Given the description of an element on the screen output the (x, y) to click on. 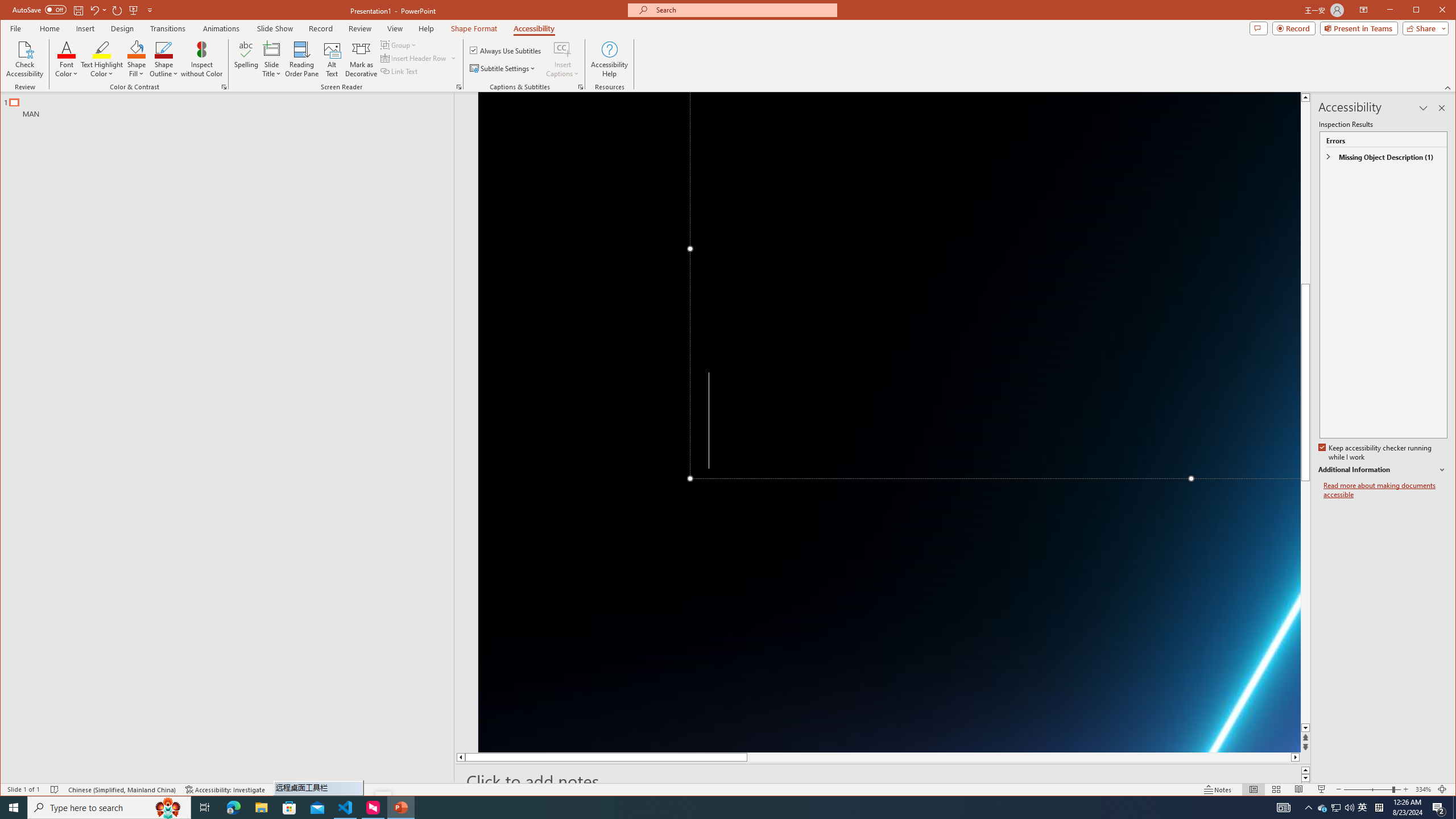
Rectangle (221, 436)
Microsoft Store (289, 807)
Show desktop (1454, 807)
Search highlights icon opens search home window (167, 807)
Keep accessibility checker running while I work (1375, 452)
Visual Studio Code - 1 running window (345, 807)
Task View (204, 807)
